Given the description of an element on the screen output the (x, y) to click on. 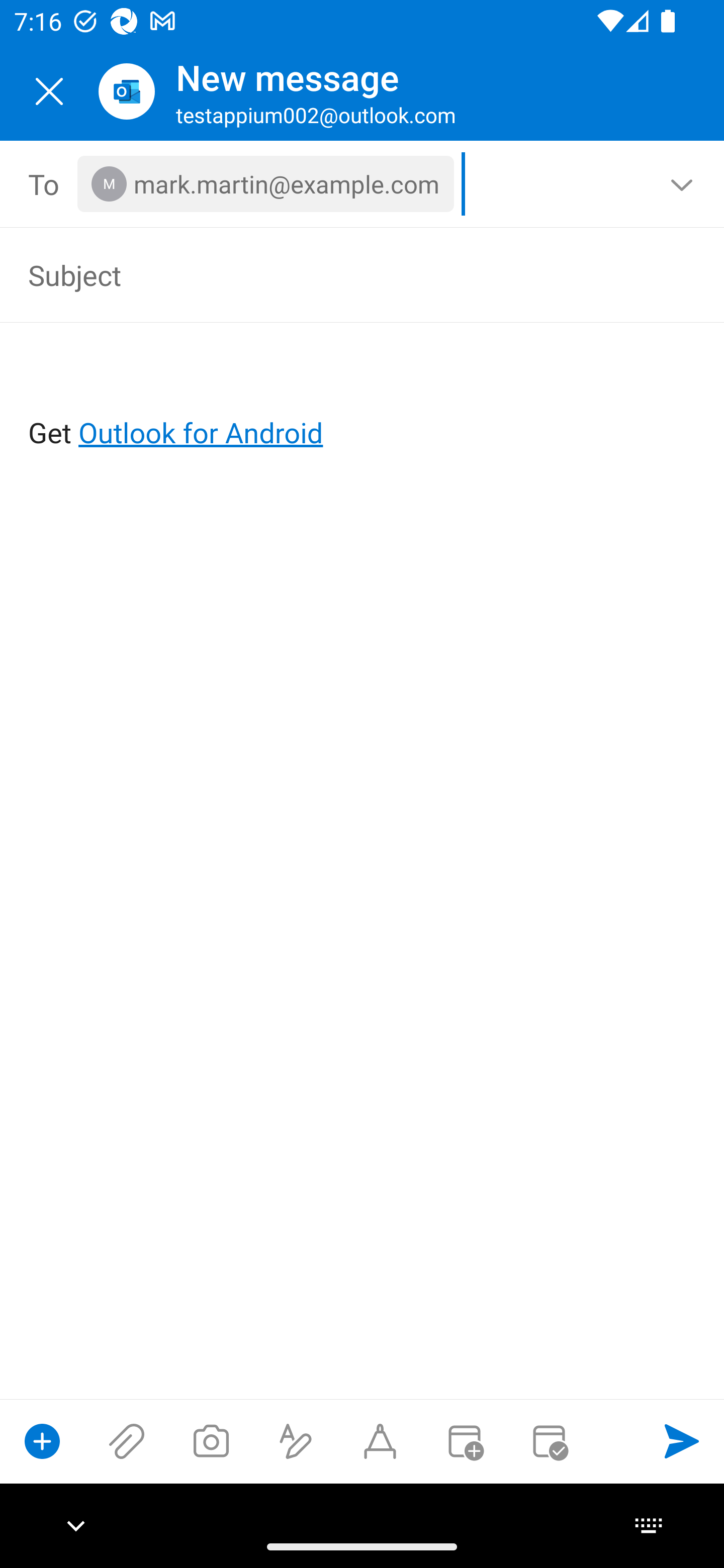
Close (49, 91)
To, 1 recipient <mark.martin@example.com> (362, 184)
Subject (333, 274)


Get Outlook for Android (363, 400)
Show compose options (42, 1440)
Attach files (126, 1440)
Take a photo (210, 1440)
Show formatting options (295, 1440)
Start Ink compose (380, 1440)
Convert to event (464, 1440)
Send availability (548, 1440)
Send (681, 1440)
